Given the description of an element on the screen output the (x, y) to click on. 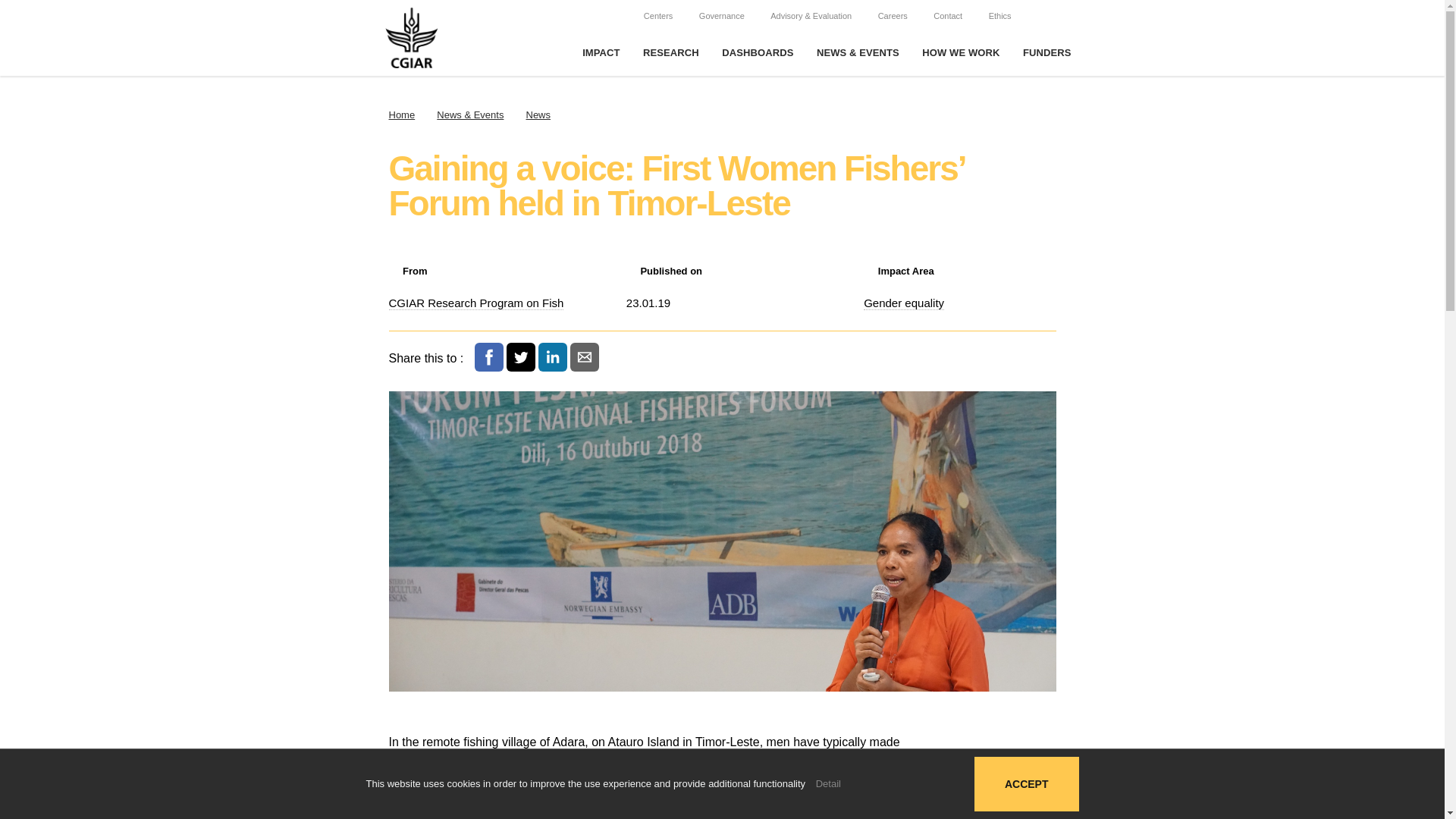
IMPACT (601, 53)
RESEARCH (670, 53)
